Given the description of an element on the screen output the (x, y) to click on. 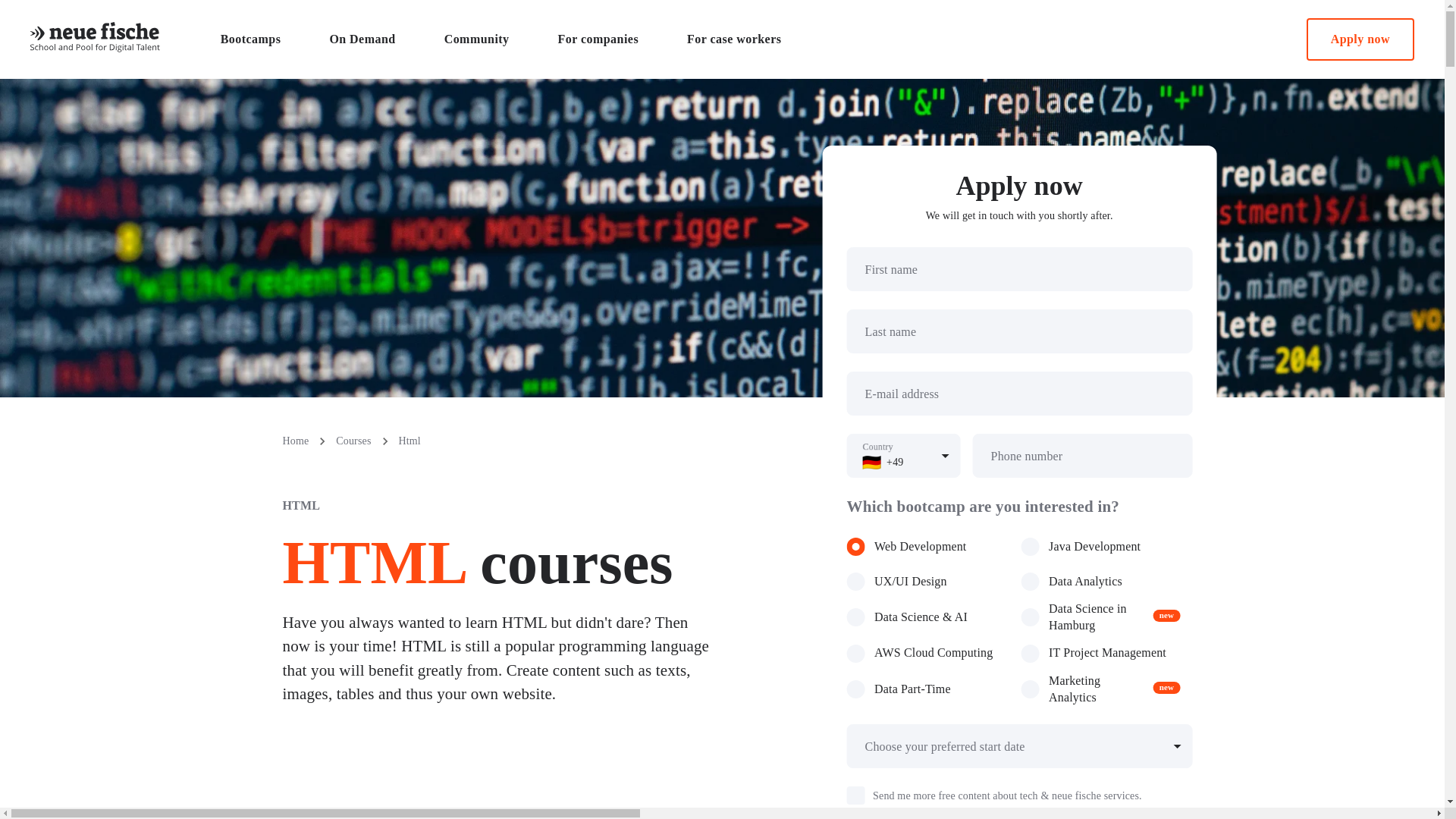
On Demand (362, 39)
For companies (598, 39)
For case workers (734, 39)
Apply now (732, 39)
Community (1359, 39)
Bootcamps (476, 39)
